Given the description of an element on the screen output the (x, y) to click on. 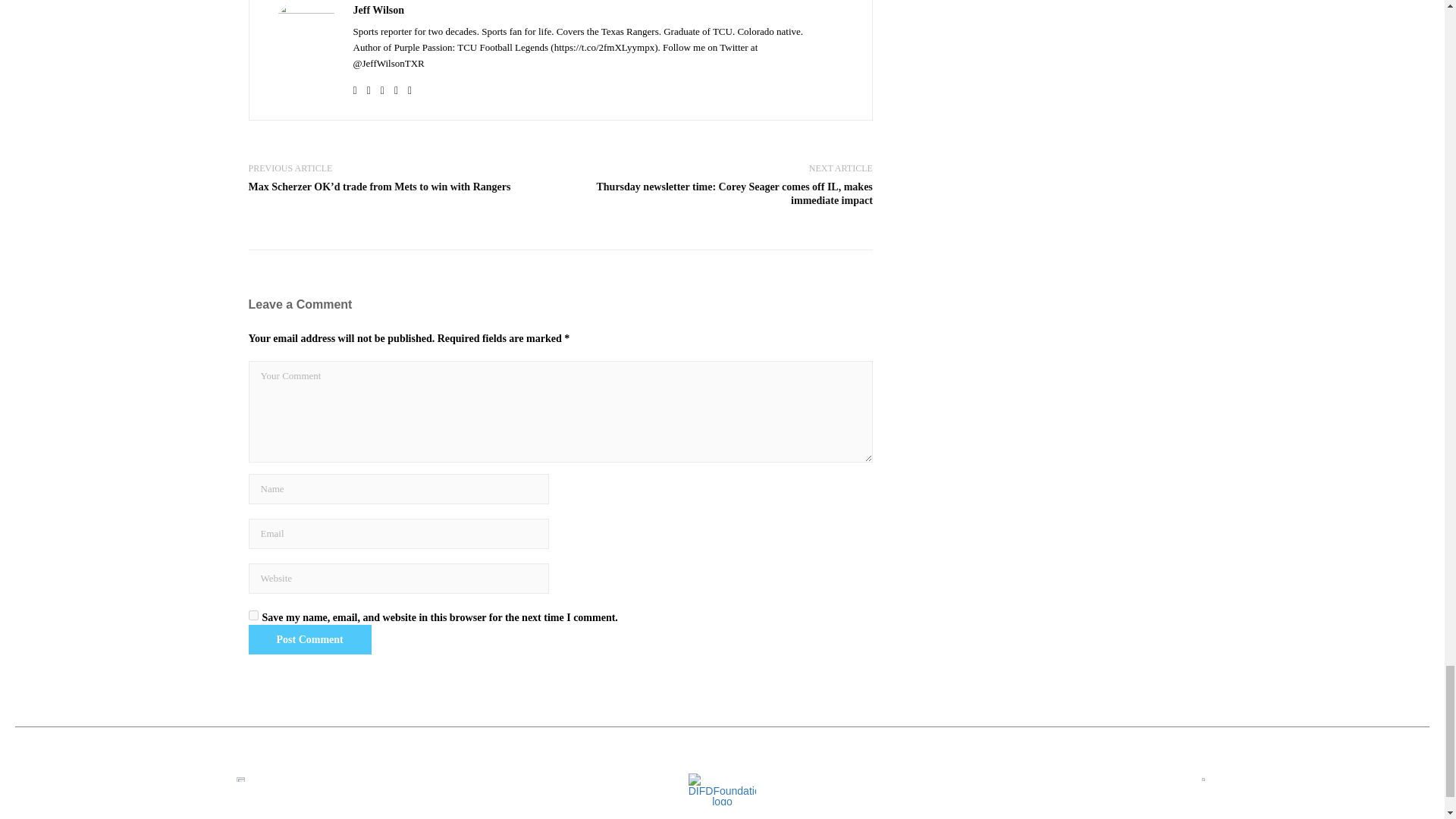
yes (253, 614)
Post Comment (309, 639)
Jeff Wilson (378, 10)
